Given the description of an element on the screen output the (x, y) to click on. 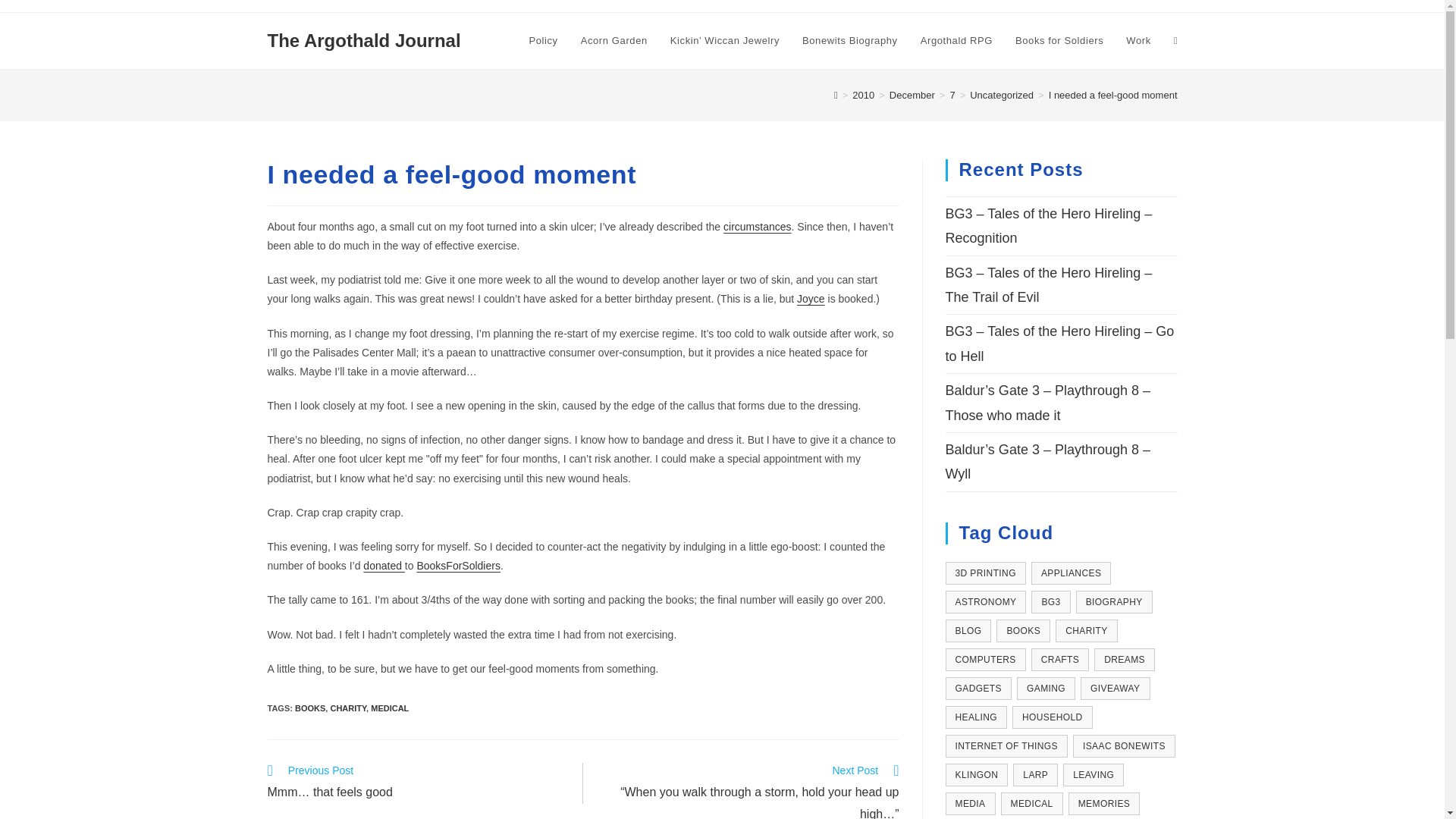
circumstances (756, 226)
2010 (863, 94)
Bonewits Biography (849, 40)
Acorn Garden (614, 40)
I needed a feel-good moment (1112, 94)
The Argothald Journal (363, 40)
Policy (542, 40)
Uncategorized (1001, 94)
Books for Soldiers (1059, 40)
Joyce (810, 298)
CHARITY (348, 707)
donated (383, 565)
December (911, 94)
Argothald RPG (956, 40)
BOOKS (309, 707)
